Given the description of an element on the screen output the (x, y) to click on. 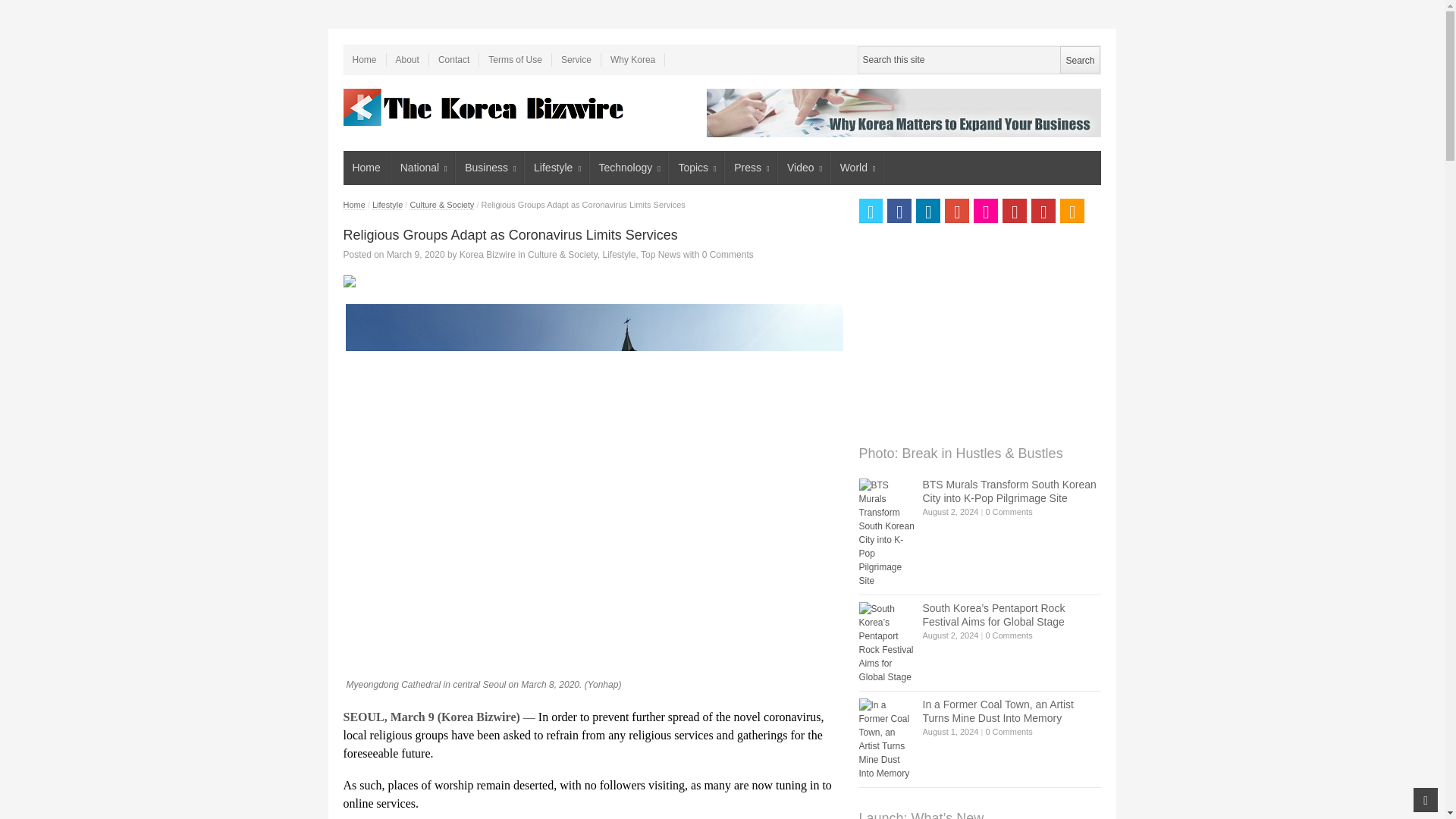
Service (576, 59)
Search this site (978, 59)
Home (366, 167)
About (408, 59)
Contact (454, 59)
Terms of Use (515, 59)
View all posts in Lifestyle (618, 254)
View all posts in Lifestyle (387, 204)
Be Korea-savvy (484, 107)
View all posts in Top News (660, 254)
